Given the description of an element on the screen output the (x, y) to click on. 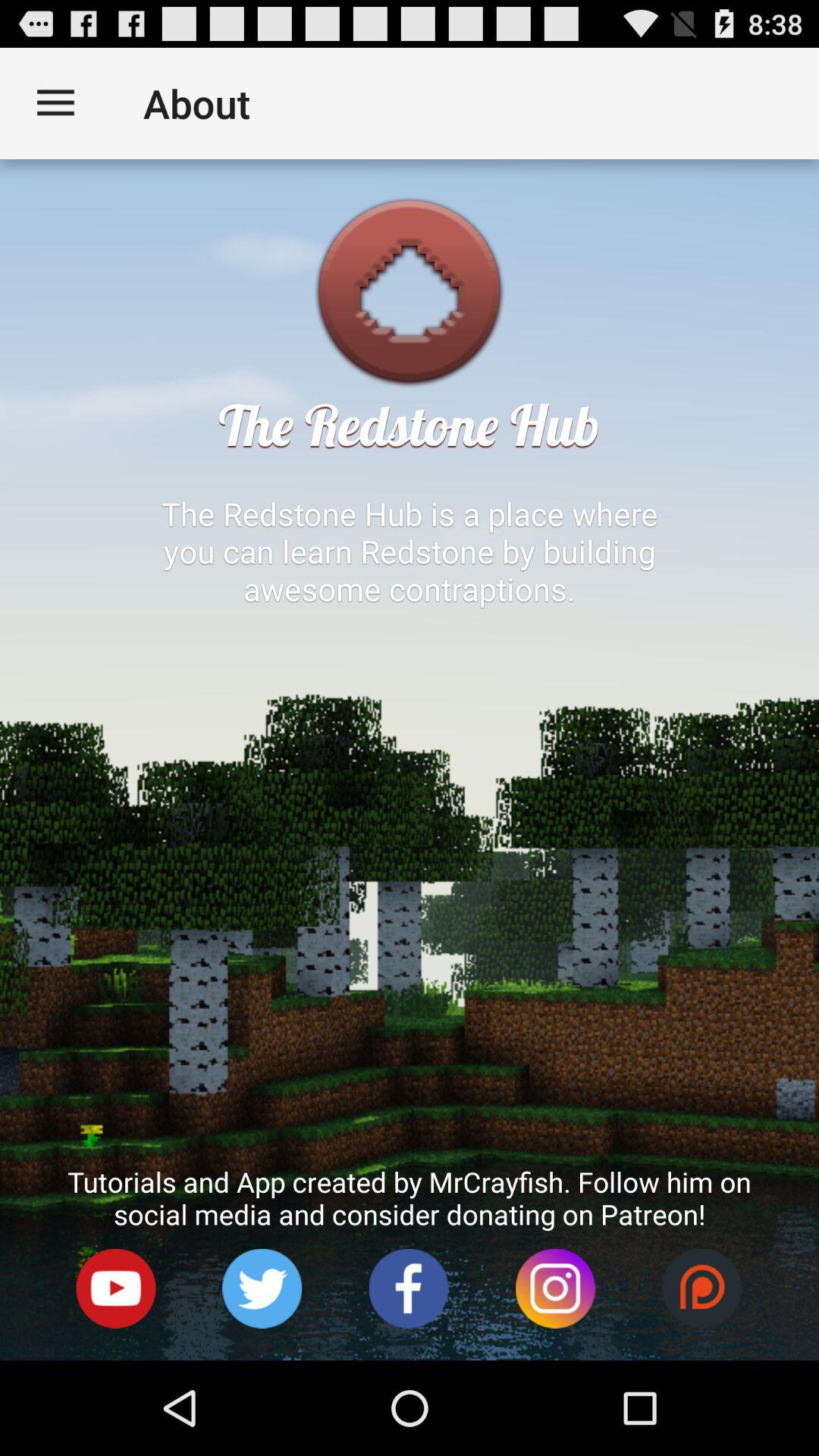
launch icon to the left of about (55, 103)
